Given the description of an element on the screen output the (x, y) to click on. 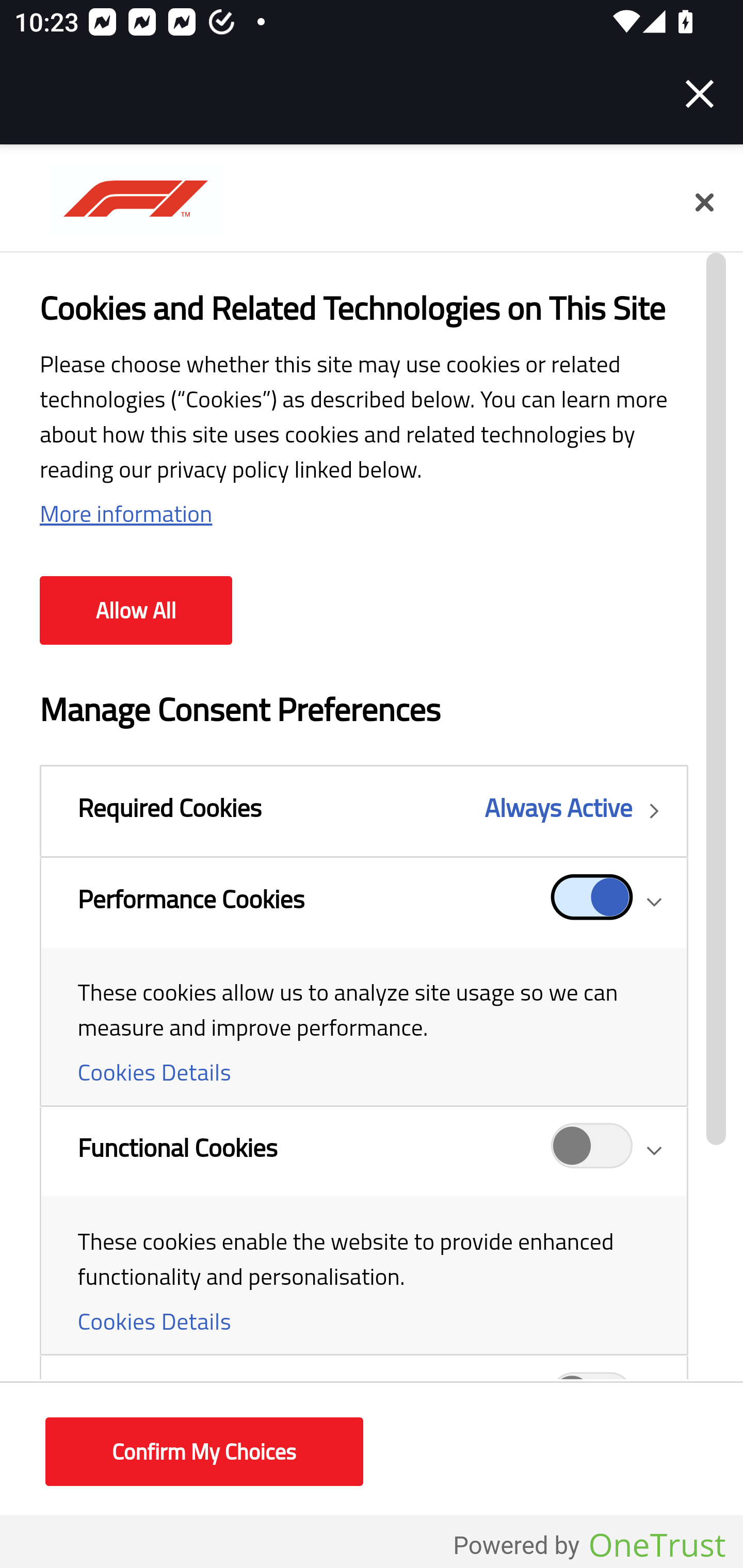
Close (699, 93)
Close (703, 203)
Allow All (135, 610)
Required Cookies (363, 811)
Performance Cookies (363, 982)
Performance Cookies (591, 902)
Functional Cookies (363, 1230)
Functional Cookies (591, 1151)
Confirm My Choices (203, 1452)
Powered by OneTrust Opens in a new Tab (589, 1546)
